Given the description of an element on the screen output the (x, y) to click on. 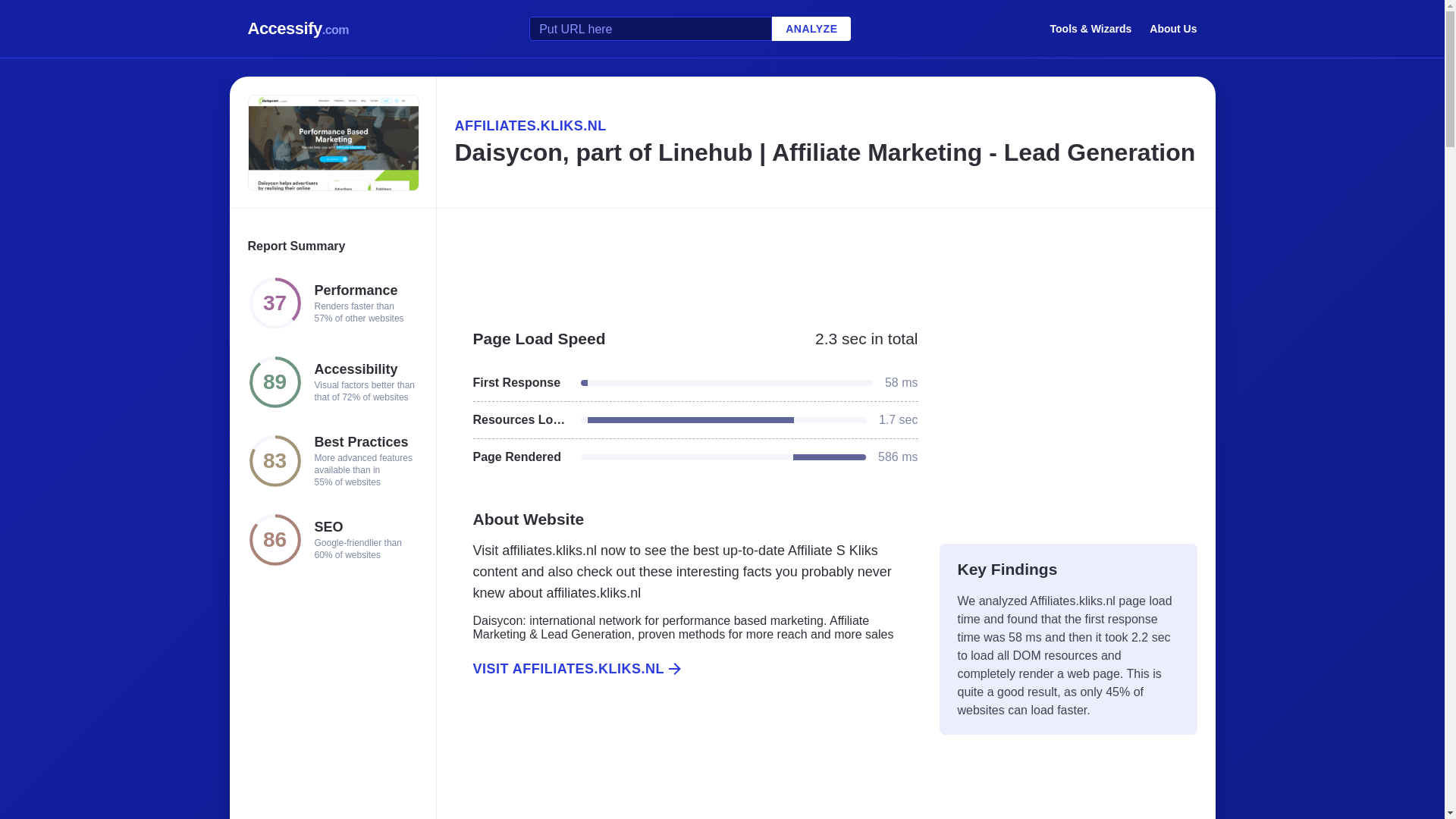
AFFILIATES.KLIKS.NL (825, 126)
Advertisement (825, 260)
VISIT AFFILIATES.KLIKS.NL (686, 669)
About Us (1173, 28)
Advertisement (686, 765)
Accessify.com (298, 28)
Advertisement (1067, 418)
ANALYZE (810, 28)
